Given the description of an element on the screen output the (x, y) to click on. 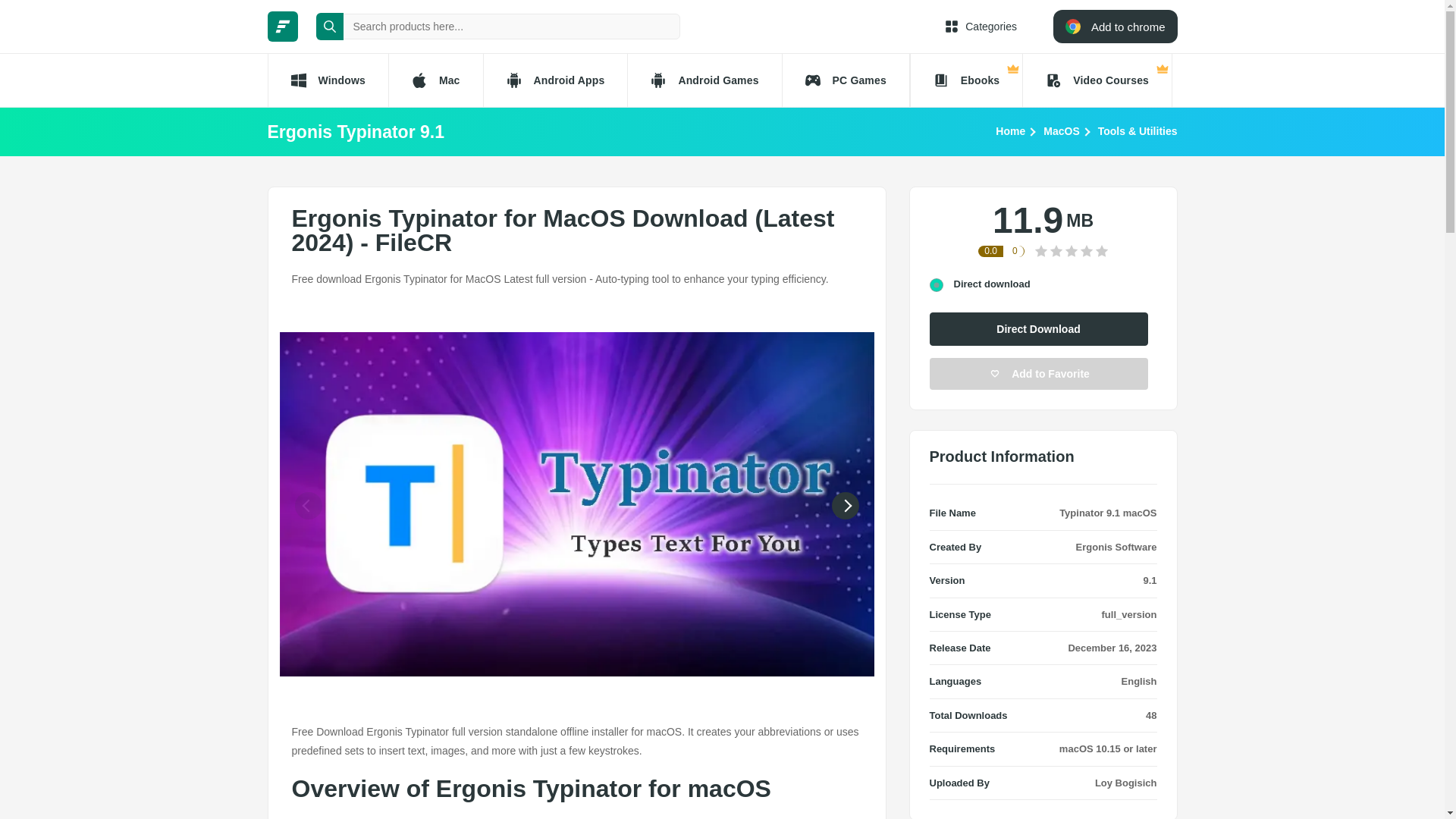
PC Games (845, 80)
Add to chrome (1114, 26)
MacOS (1060, 131)
Mac (435, 80)
Direct Download (1039, 328)
Home (1010, 131)
Ergonis Software (1116, 546)
Android Apps (555, 80)
Windows (326, 80)
Android Games (703, 80)
Add to Favorite (1039, 373)
Categories (980, 26)
